Given the description of an element on the screen output the (x, y) to click on. 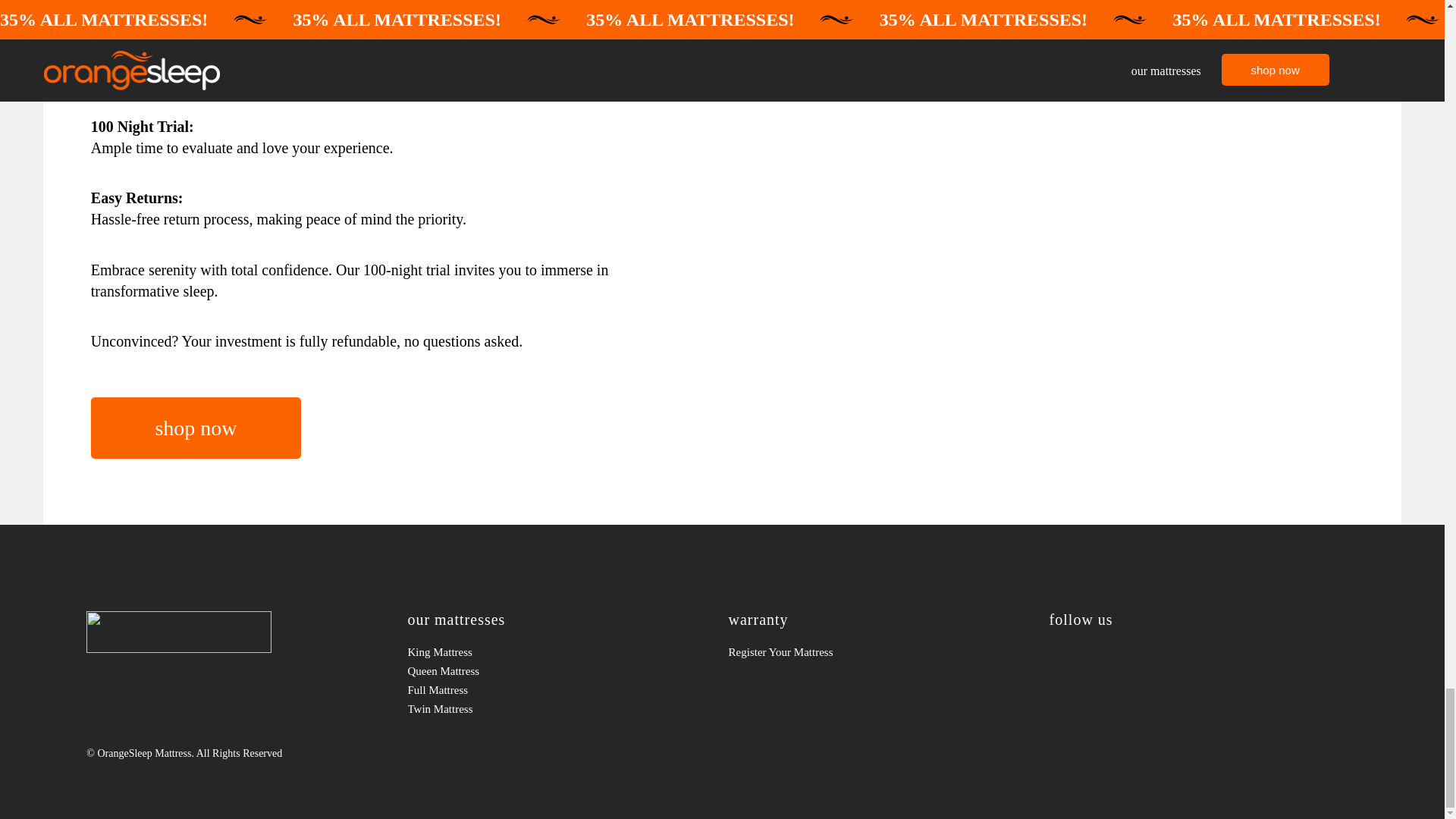
shop now (195, 428)
Queen Mattress (561, 670)
King Mattress (561, 651)
Register Your Mattress (882, 651)
Twin Mattress (561, 709)
Full Mattress (561, 690)
